Given the description of an element on the screen output the (x, y) to click on. 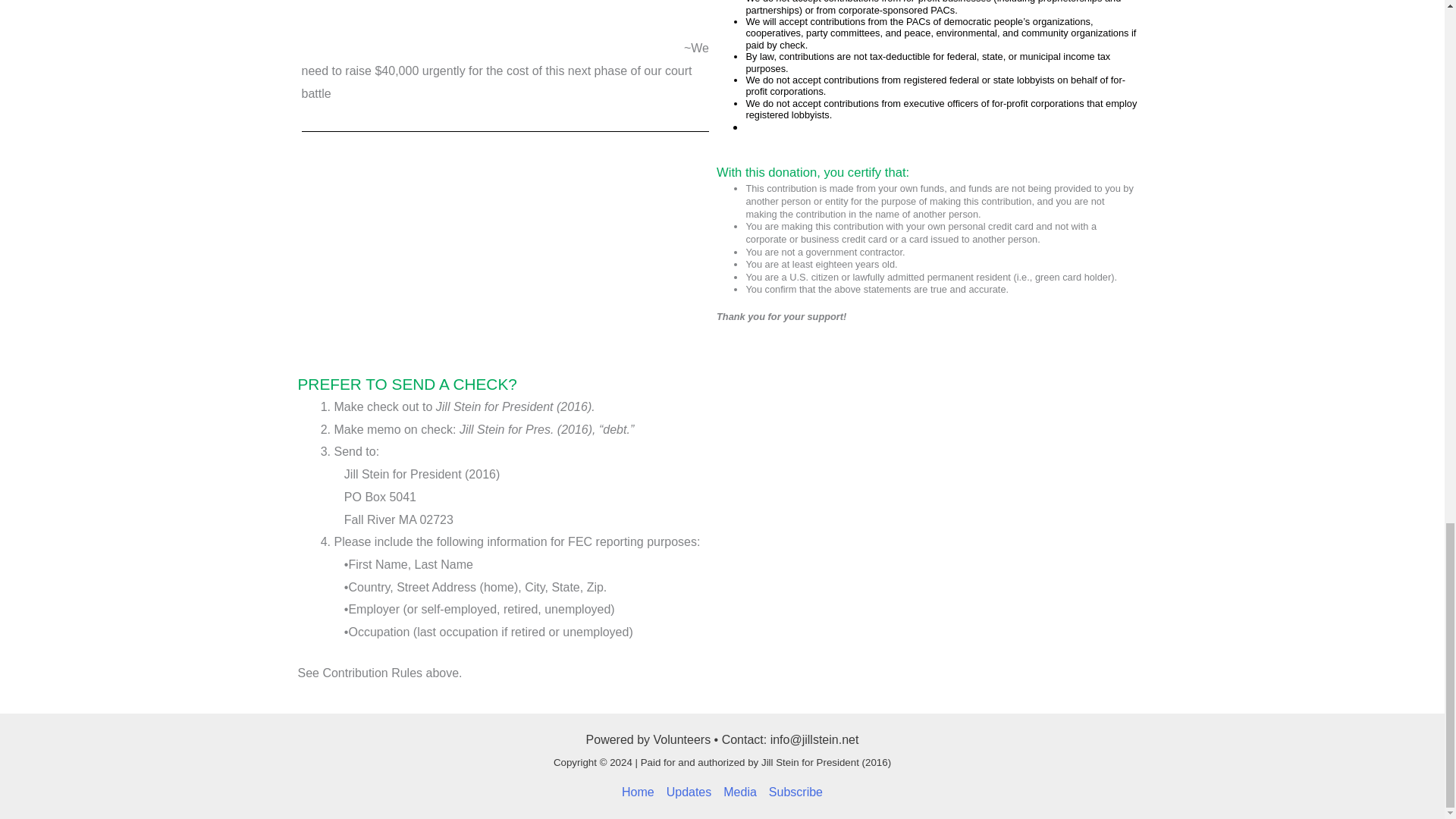
Updates (689, 792)
Home (641, 792)
Media (739, 792)
Subscribe (792, 792)
